Given the description of an element on the screen output the (x, y) to click on. 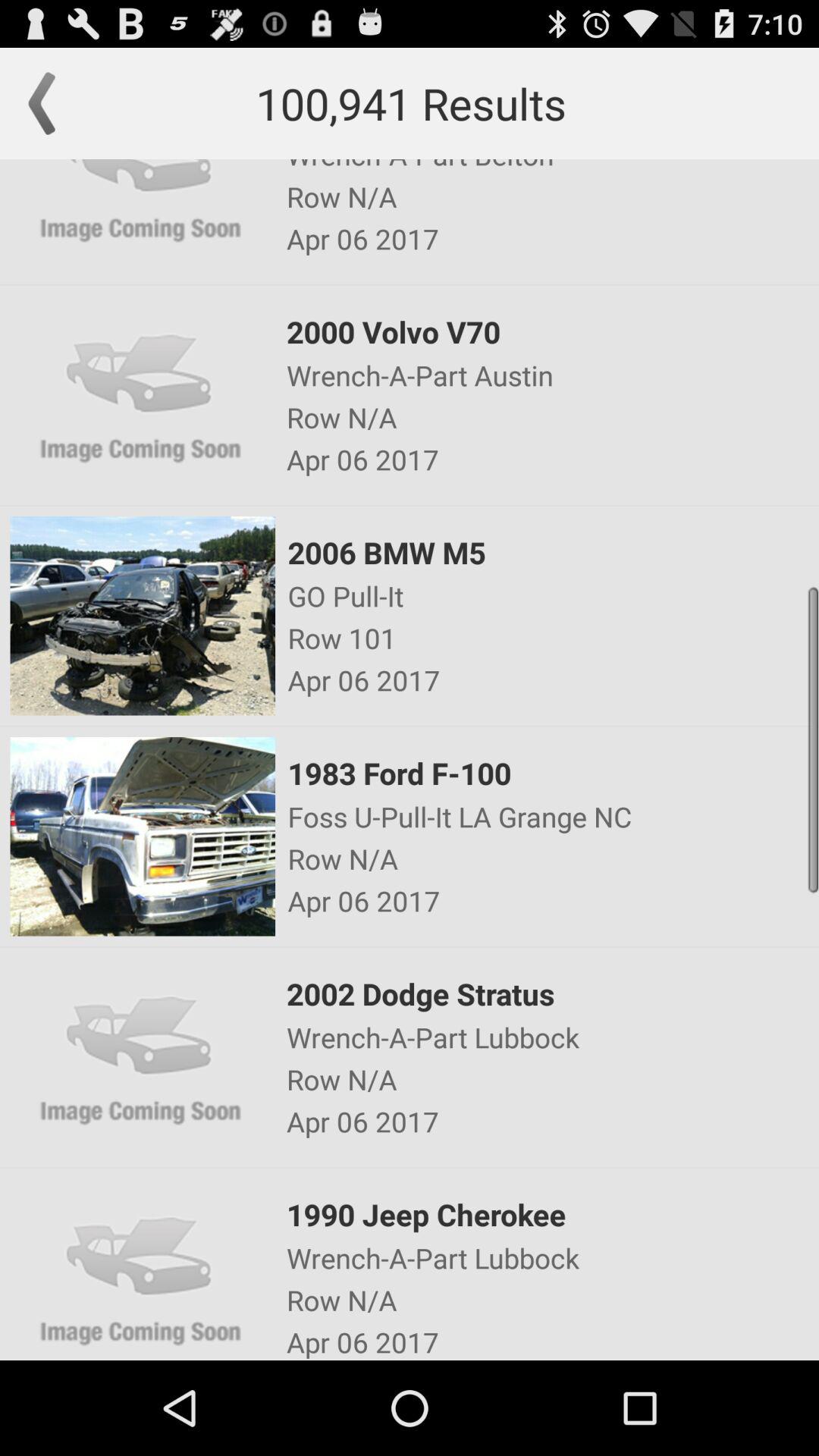
choose the item below apr 06 2017 app (551, 552)
